Given the description of an element on the screen output the (x, y) to click on. 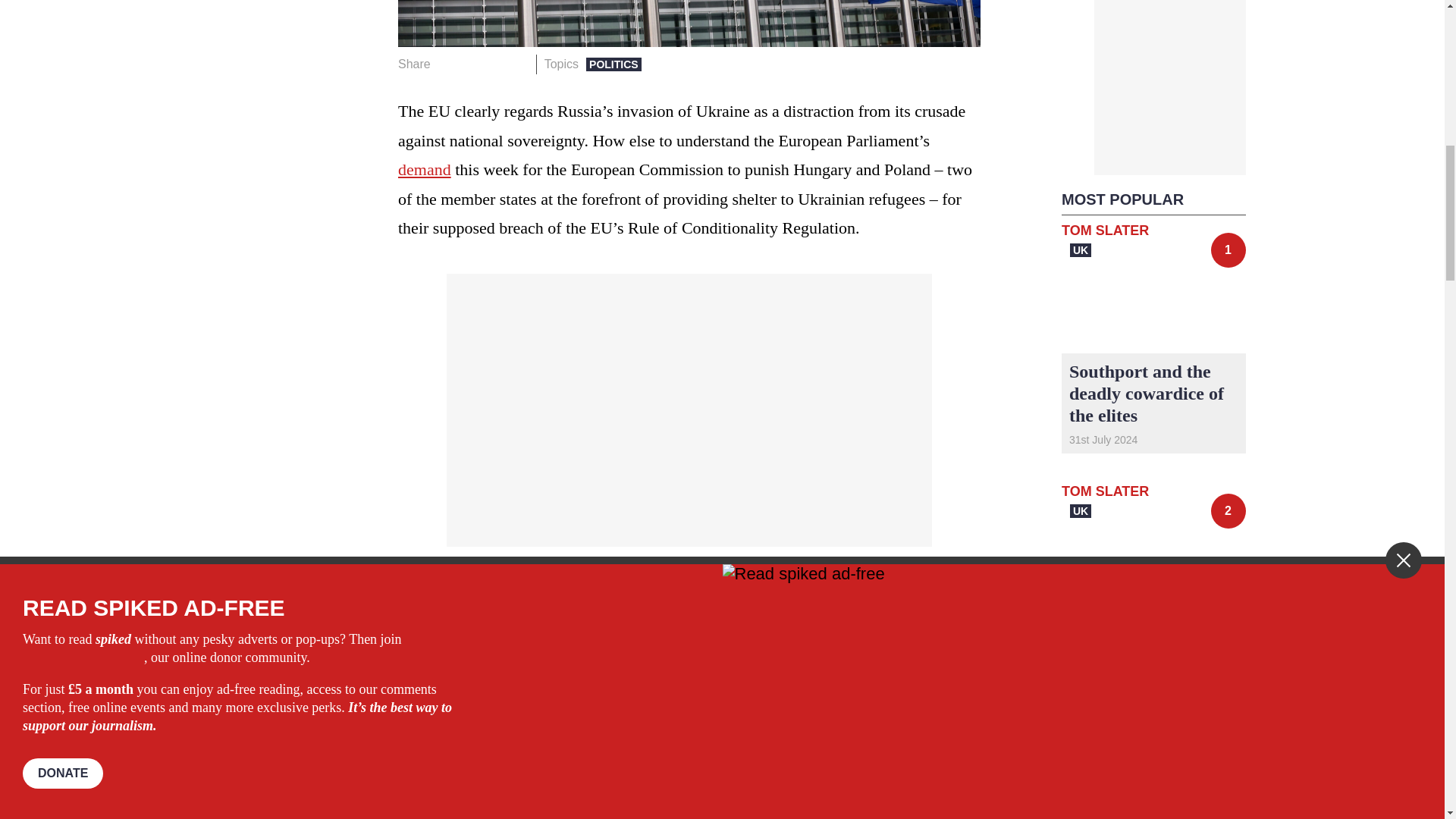
Share on Facebook (448, 64)
Share on Email (518, 64)
Share on Twitter (471, 64)
Share on Whatsapp (494, 64)
